Given the description of an element on the screen output the (x, y) to click on. 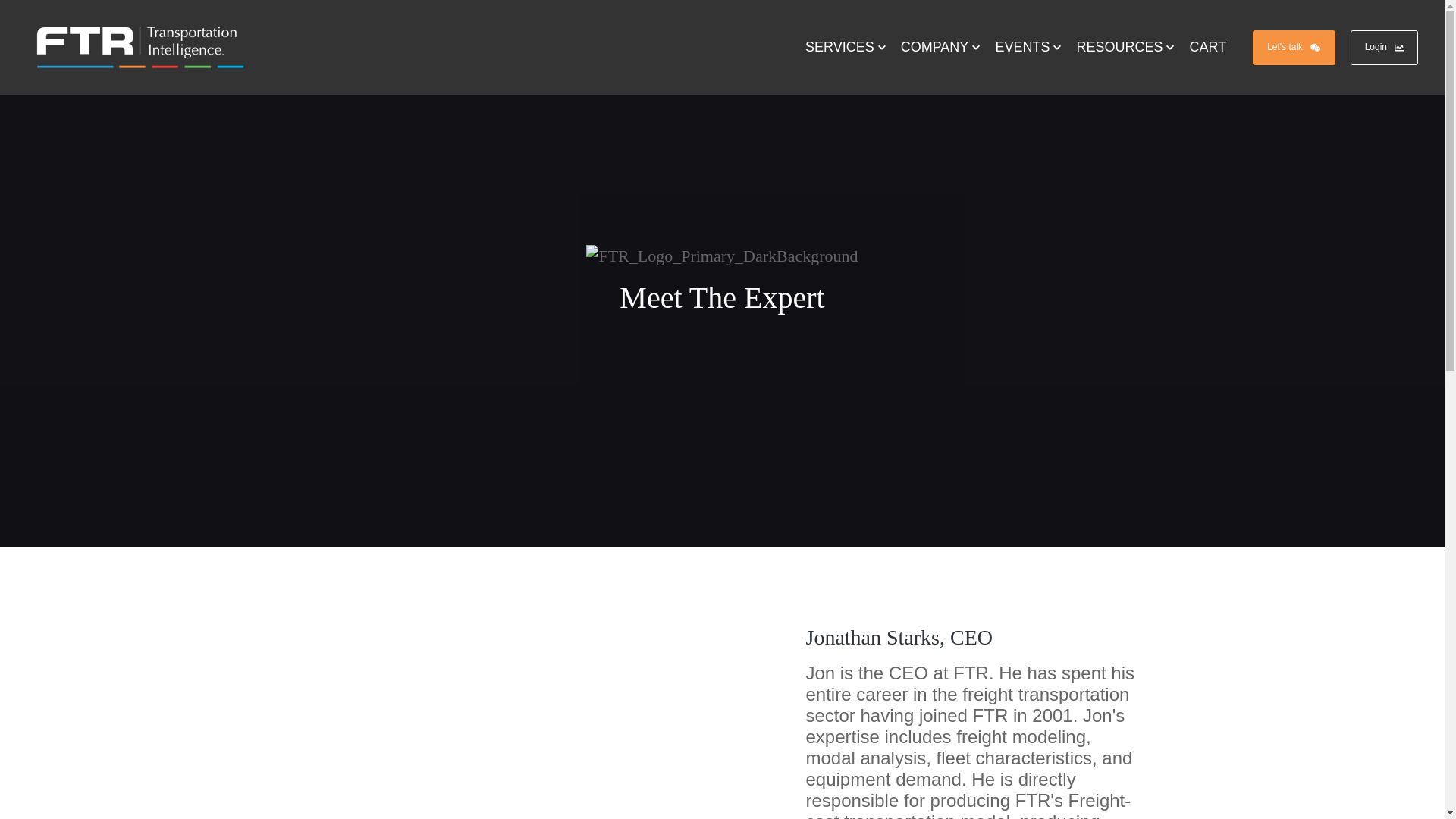
RESOURCES (1124, 46)
COMPANY (940, 46)
SERVICES (845, 46)
EVENTS (1027, 46)
